Given the description of an element on the screen output the (x, y) to click on. 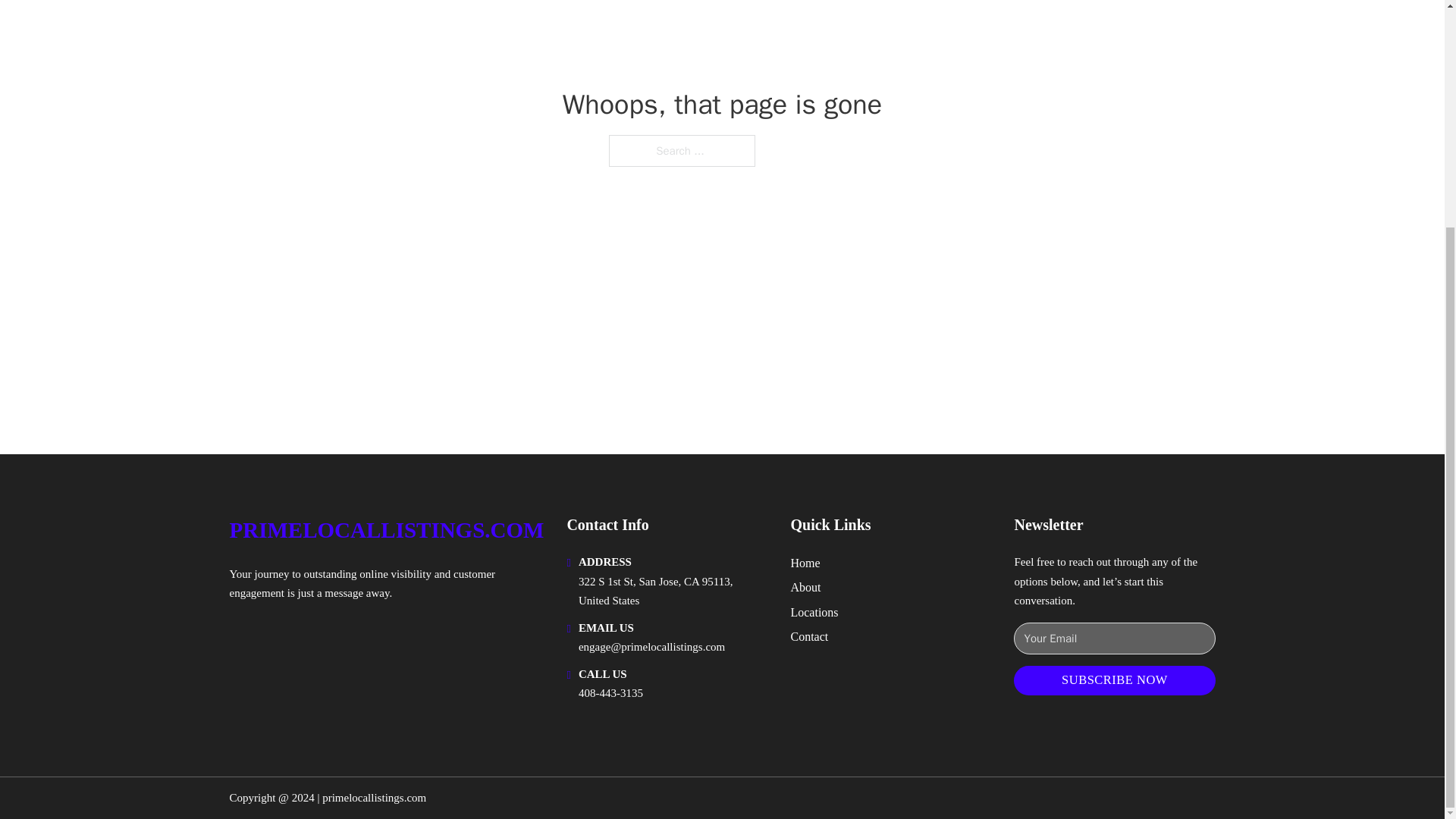
About (805, 587)
Home (804, 562)
PRIMELOCALLISTINGS.COM (385, 529)
Contact (809, 636)
SUBSCRIBE NOW (1113, 680)
Locations (814, 611)
408-443-3135 (610, 693)
